Given the description of an element on the screen output the (x, y) to click on. 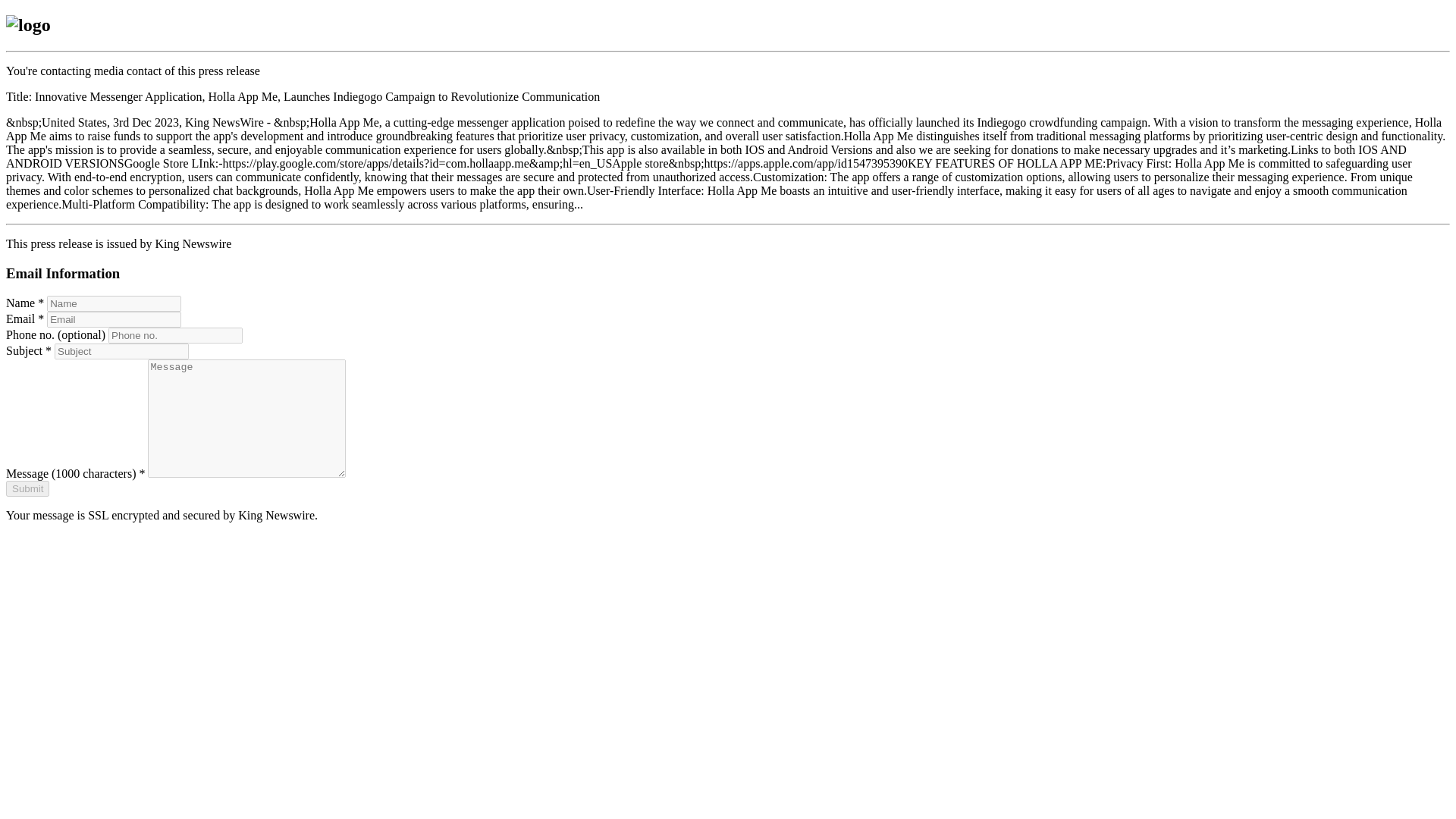
Submit (27, 488)
